Given the description of an element on the screen output the (x, y) to click on. 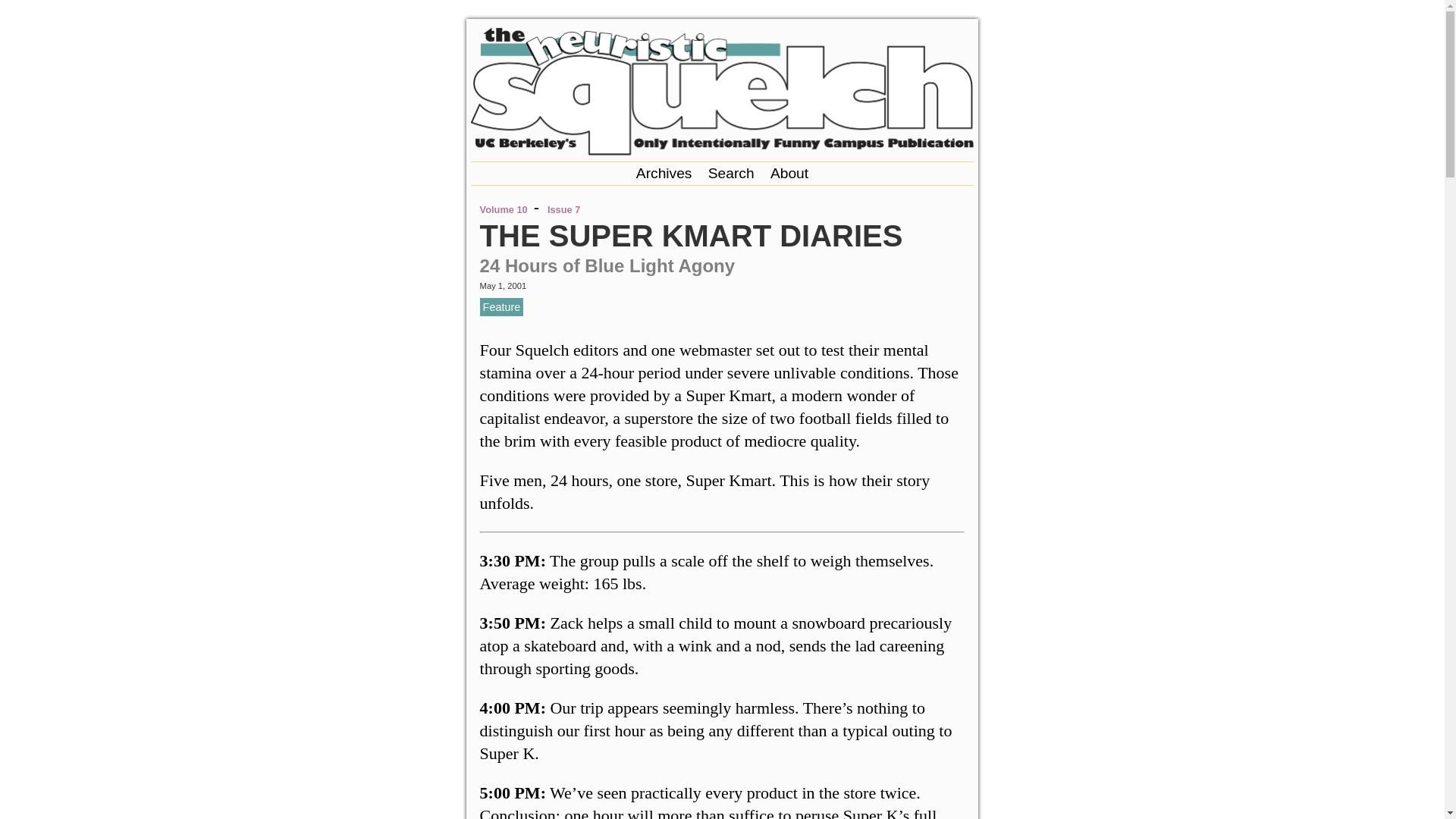
The Super Kmart Diaries (691, 235)
THE SUPER KMART DIARIES (691, 235)
Issue 7 (563, 209)
About (789, 172)
Archives (664, 172)
The Heuristic Squelch (722, 150)
Volume 10 (503, 209)
Search (730, 172)
Feature (502, 307)
